Given the description of an element on the screen output the (x, y) to click on. 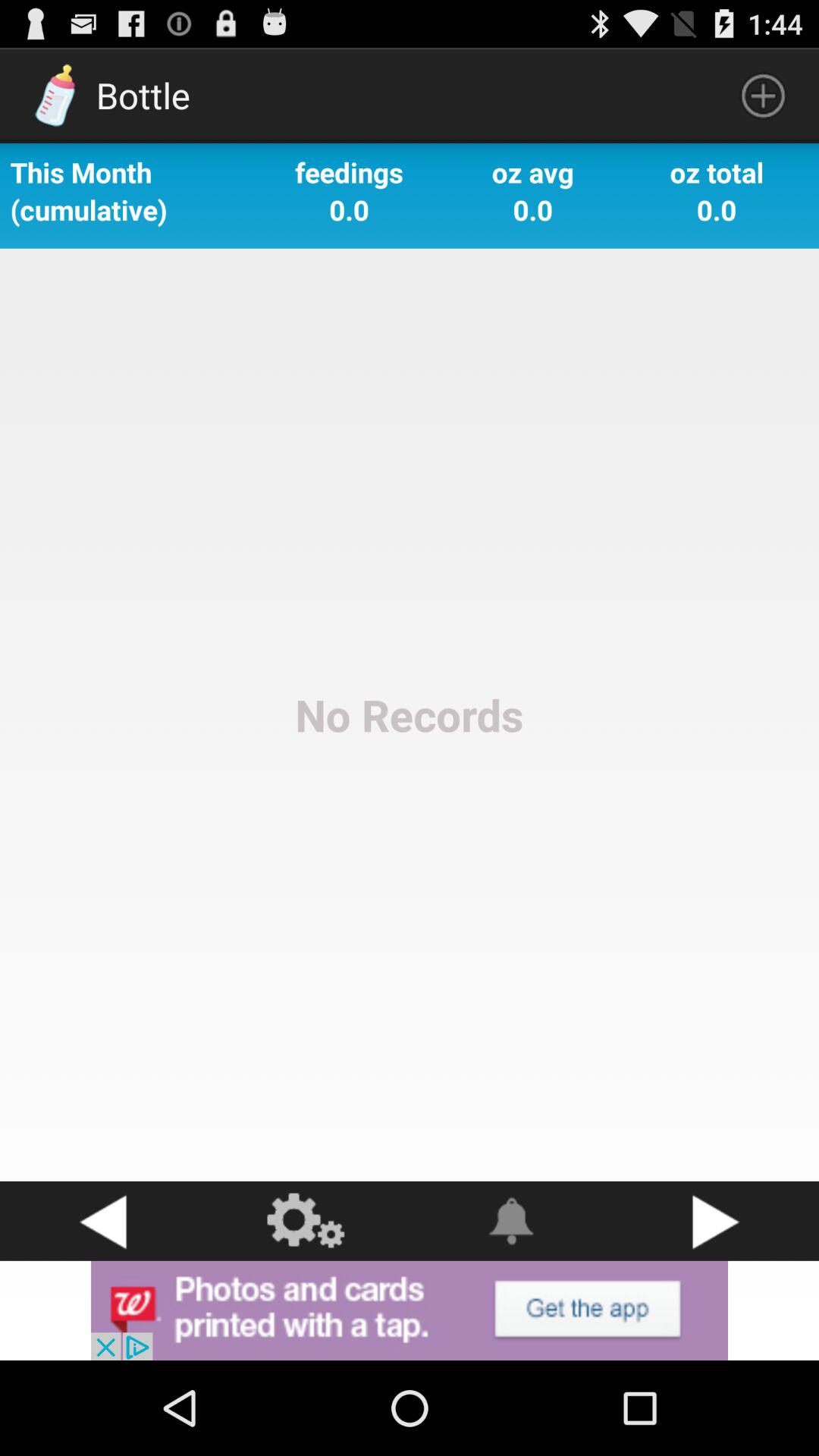
click to forward (716, 1220)
